Given the description of an element on the screen output the (x, y) to click on. 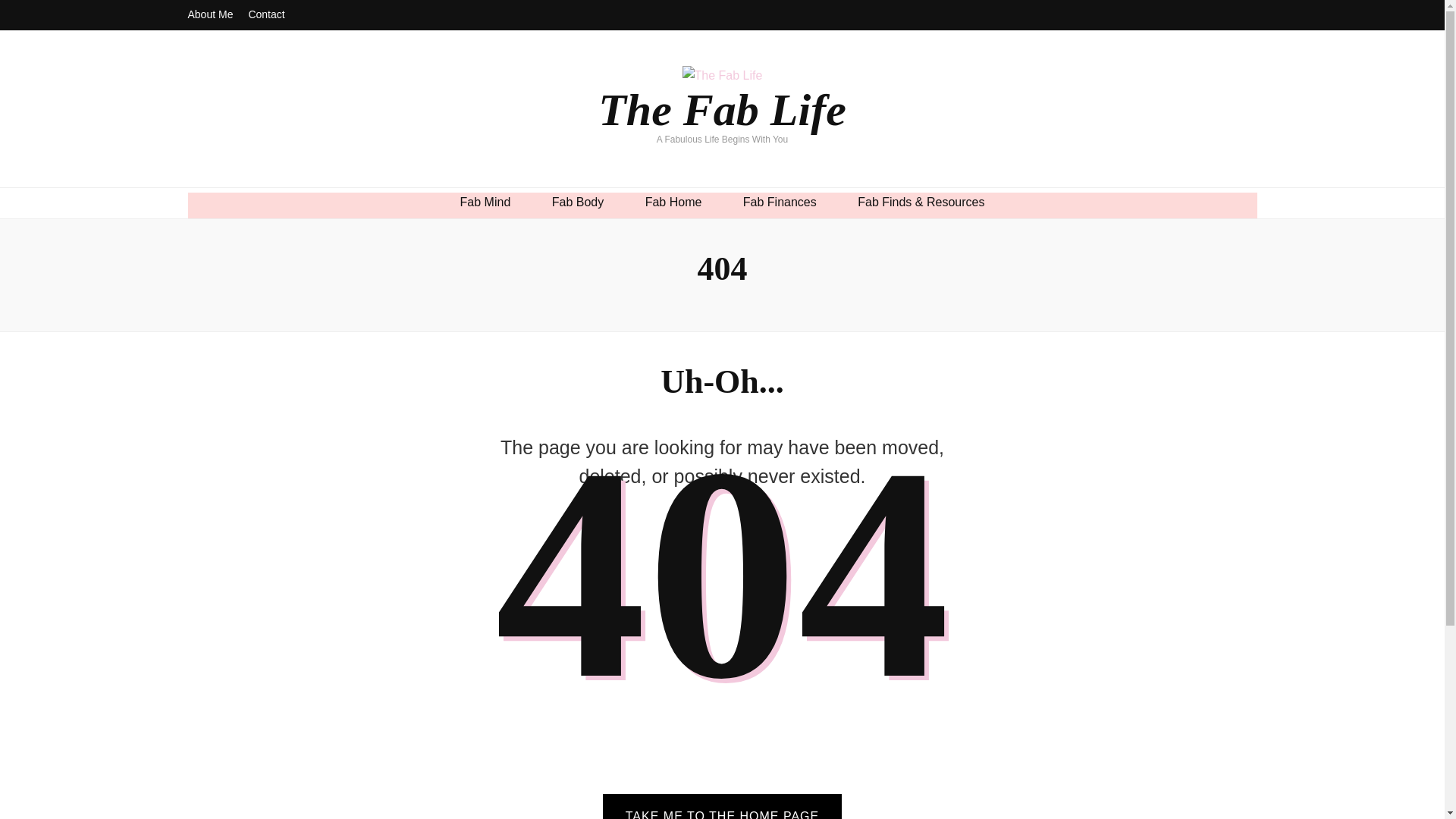
The Fab Life (721, 110)
TAKE ME TO THE HOME PAGE (721, 806)
Fab Body (577, 202)
Fab Mind (485, 202)
About Me (209, 15)
Fab Finances (779, 202)
Contact (265, 15)
Fab Home (673, 202)
